Given the description of an element on the screen output the (x, y) to click on. 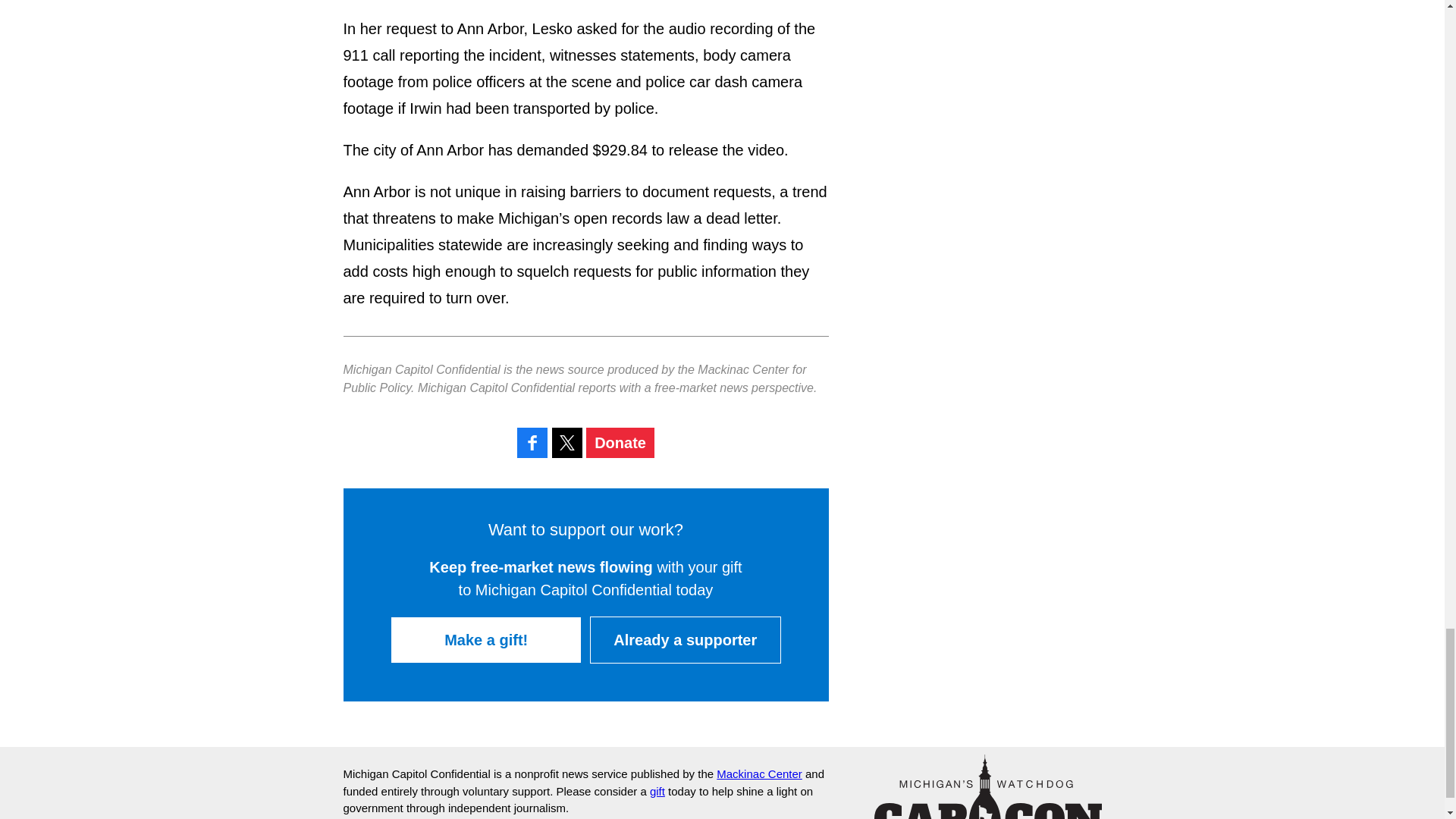
Donate (619, 442)
Make a gift! (485, 639)
Already a supporter (684, 639)
